Given the description of an element on the screen output the (x, y) to click on. 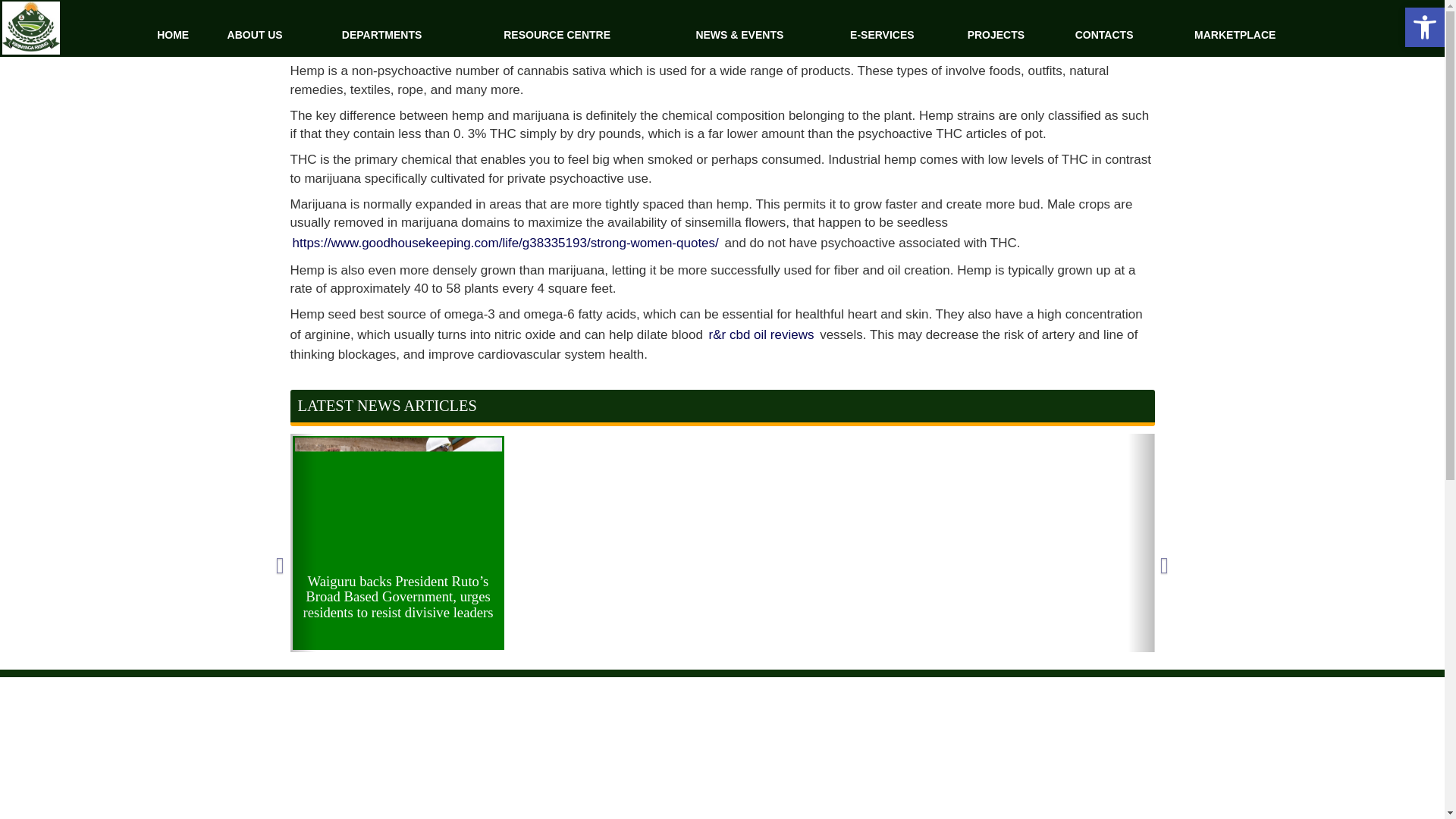
County Government of Kirinyaga (31, 28)
HOME (172, 35)
PROJECTS (995, 35)
Accessibility Tools (1424, 26)
Accessibility Tools (1424, 27)
CONTACTS (1103, 35)
E-SERVICES (882, 35)
DEPARTMENTS (382, 35)
MARKETPLACE (1234, 35)
RESOURCE CENTRE (557, 35)
